Given the description of an element on the screen output the (x, y) to click on. 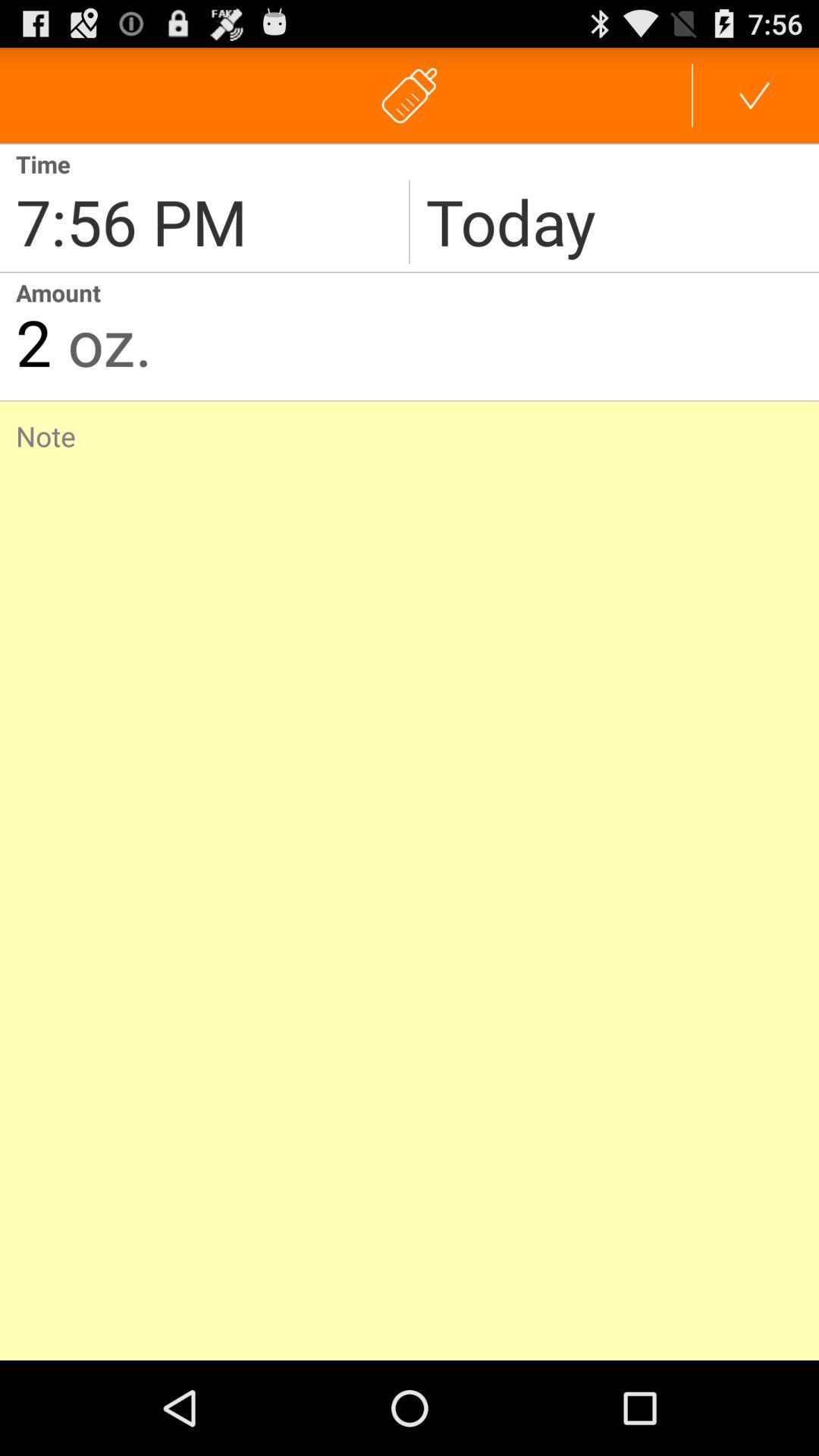
click on tick symbol (755, 95)
